Given the description of an element on the screen output the (x, y) to click on. 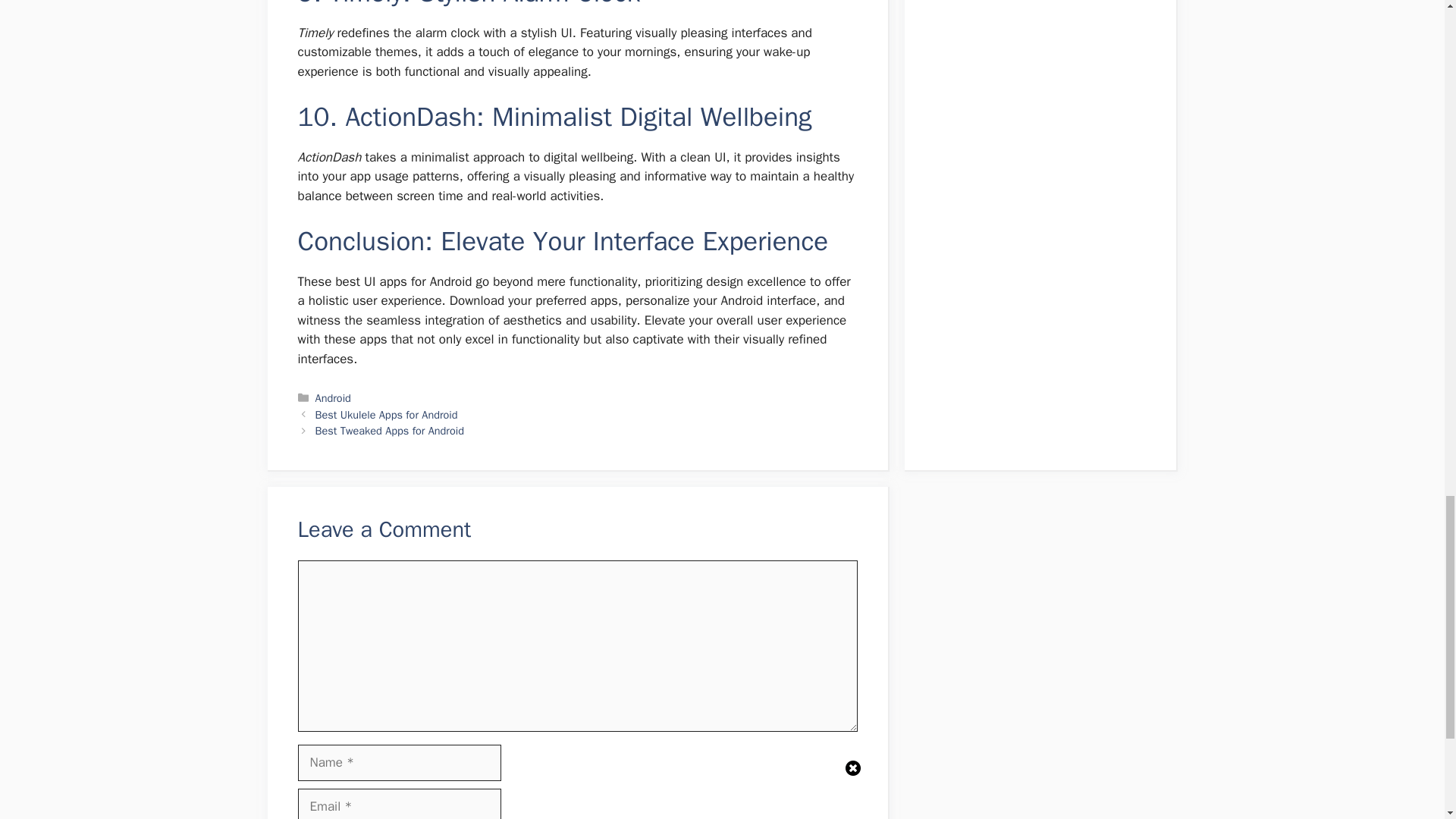
Android (332, 397)
Best Ukulele Apps for Android (386, 414)
Best Tweaked Apps for Android (389, 430)
